Given the description of an element on the screen output the (x, y) to click on. 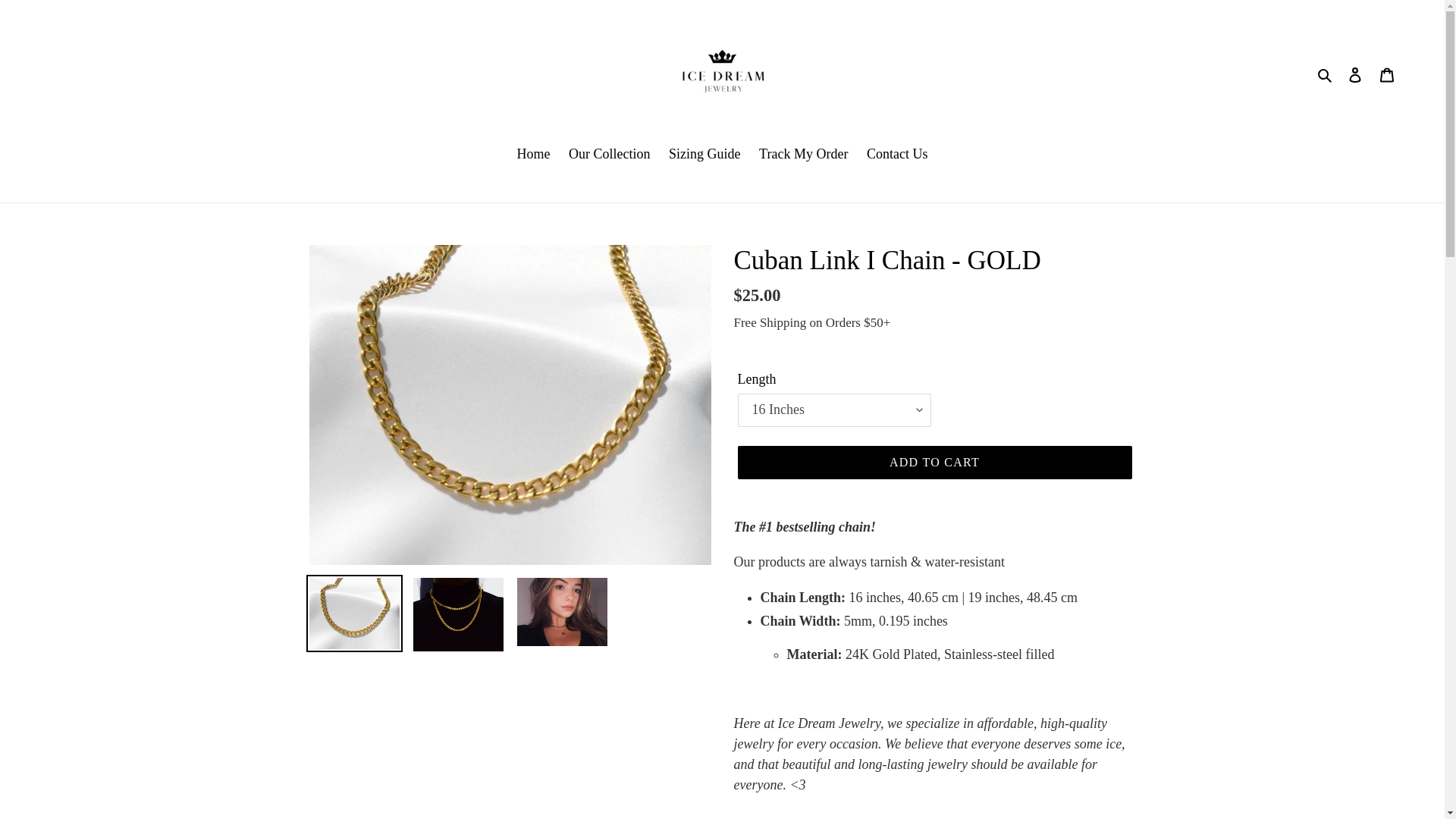
Log in (1355, 73)
Track My Order (803, 155)
Contact Us (897, 155)
Our Collection (609, 155)
Search (1326, 74)
Home (533, 155)
Sizing Guide (704, 155)
ADD TO CART (933, 462)
Cart (1387, 73)
